Given the description of an element on the screen output the (x, y) to click on. 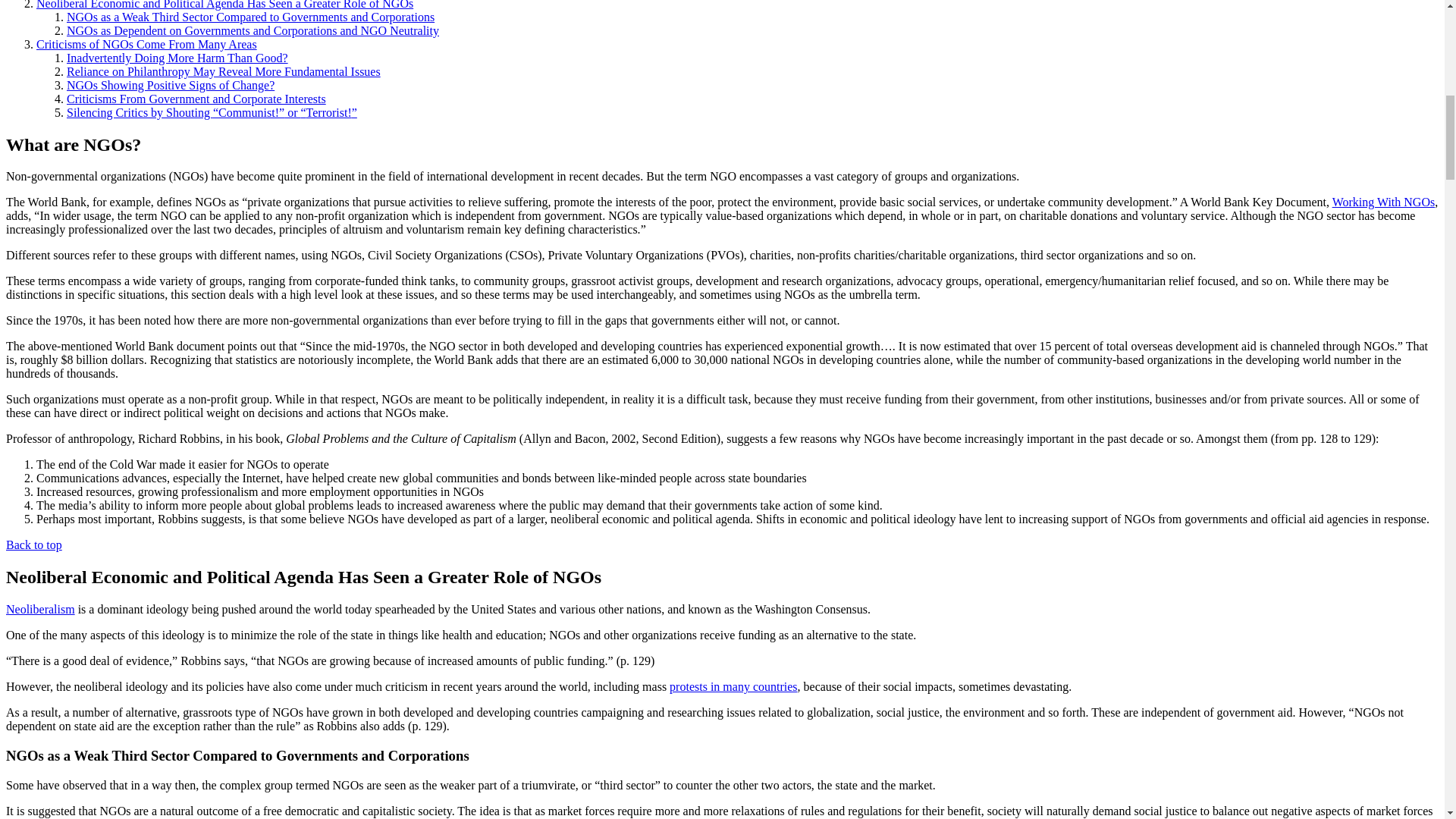
Neoliberalism (40, 608)
NGOs Showing Positive Signs of Change? (170, 84)
Silencing Critics by Shouting Communist! or Terrorist! (211, 112)
Inadvertently Doing More Harm Than Good? (177, 57)
Reliance on Philanthropy May Reveal More Fundamental Issues (223, 71)
protests in many countries (732, 686)
Back to top (33, 544)
Criticisms From Government and Corporate Interests (196, 98)
Criticisms of NGOs Come From Many Areas (146, 43)
